Given the description of an element on the screen output the (x, y) to click on. 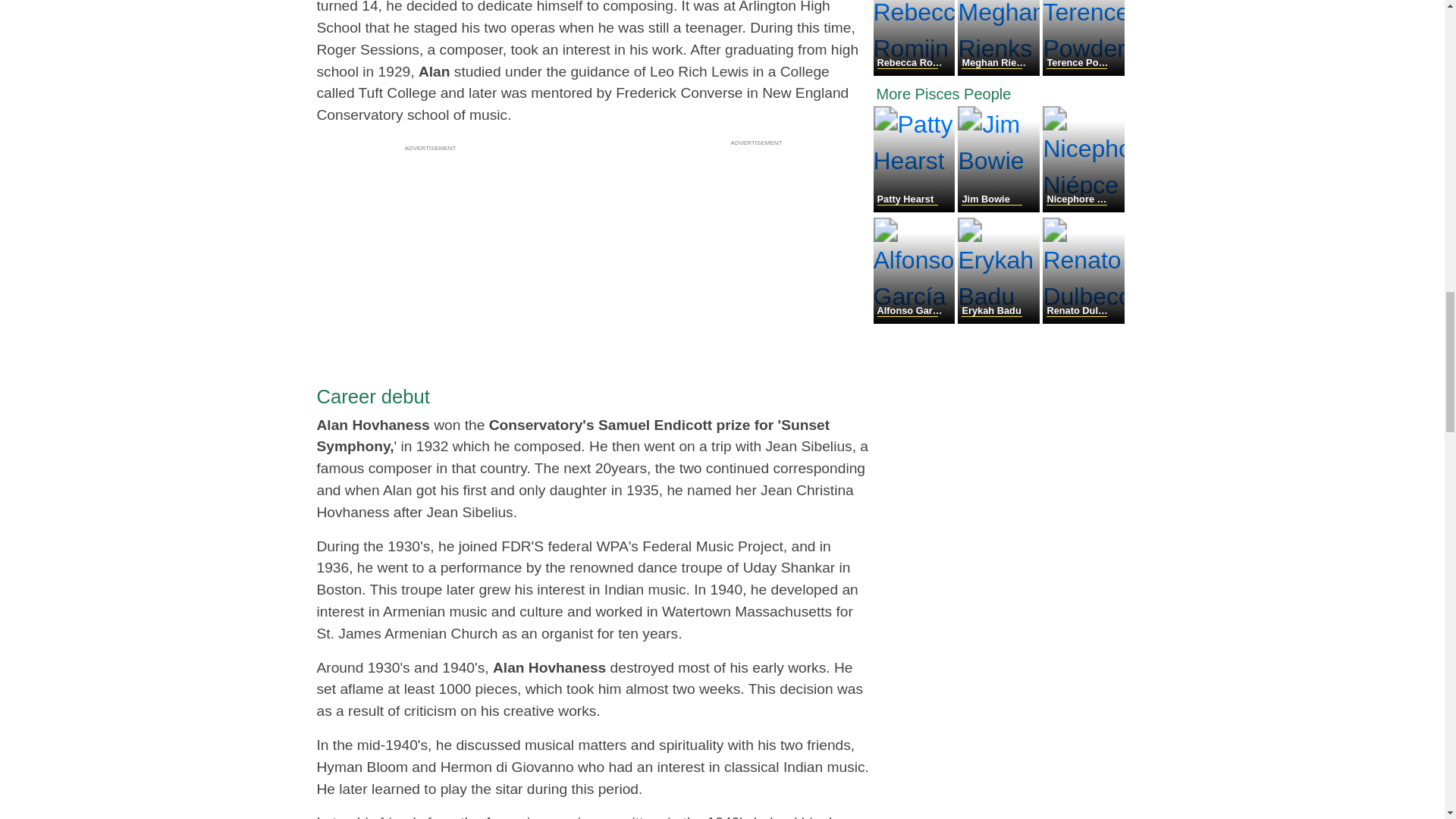
Meghan Rienks (1000, 71)
Jim Bowie (1000, 207)
Patty Hearst (915, 207)
Terence Powderly (1083, 71)
Rebecca Romijn (915, 71)
